Given the description of an element on the screen output the (x, y) to click on. 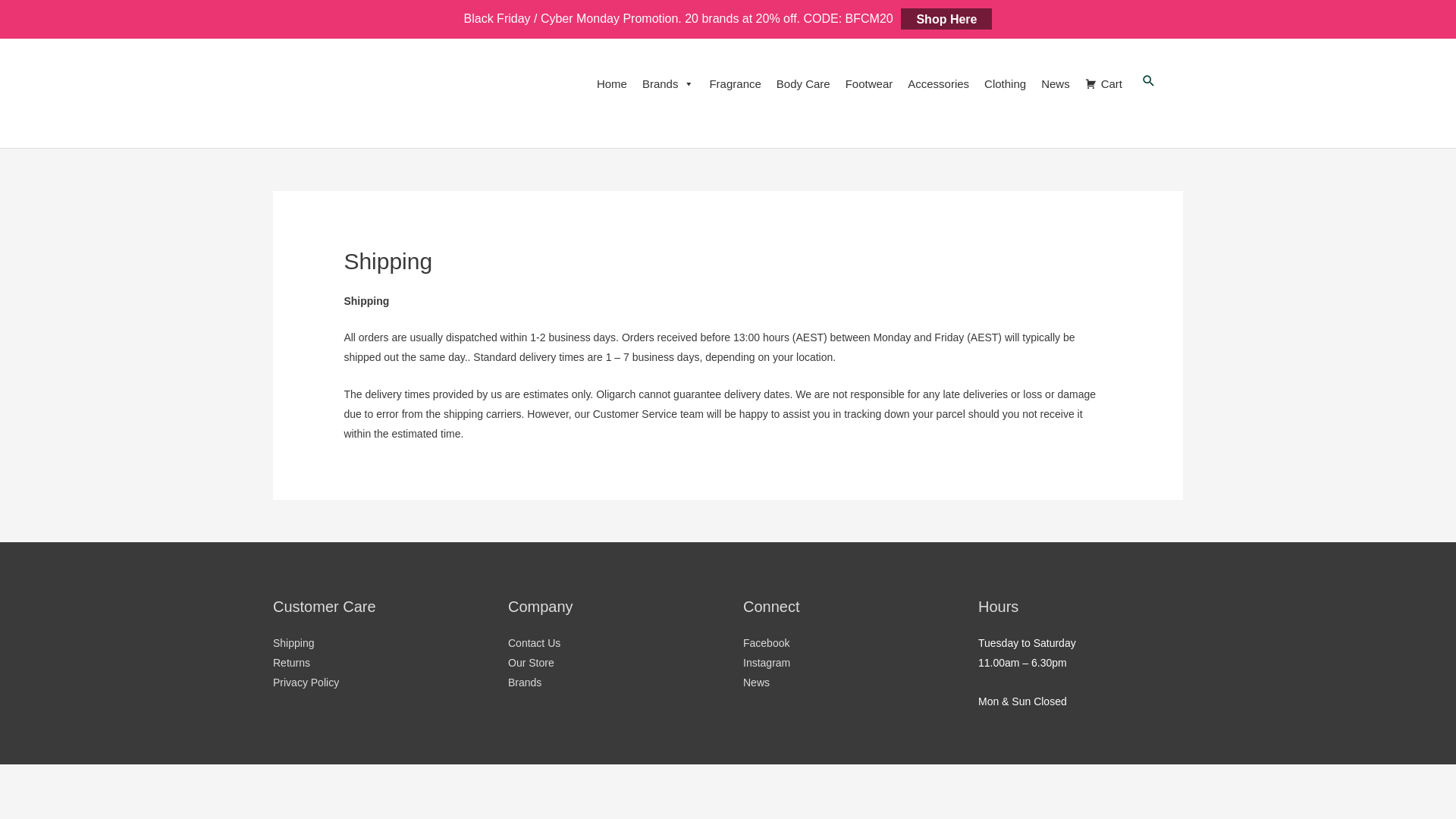
Home Element type: text (611, 83)
Our Store Element type: text (531, 662)
Instagram Element type: text (766, 662)
Brands Element type: text (668, 83)
Shop Here Element type: text (945, 18)
Contact Us Element type: text (534, 643)
Footwear Element type: text (868, 83)
Search Element type: text (1148, 80)
Accessories Element type: text (938, 83)
Privacy Policy Element type: text (305, 682)
Body Care Element type: text (802, 83)
Facebook Element type: text (766, 643)
News Element type: text (756, 682)
Shipping Element type: text (293, 643)
Fragrance Element type: text (734, 83)
Cart Element type: text (1103, 83)
Returns Element type: text (291, 662)
Clothing Element type: text (1004, 83)
Brands Element type: text (524, 682)
News Element type: text (1055, 83)
